Given the description of an element on the screen output the (x, y) to click on. 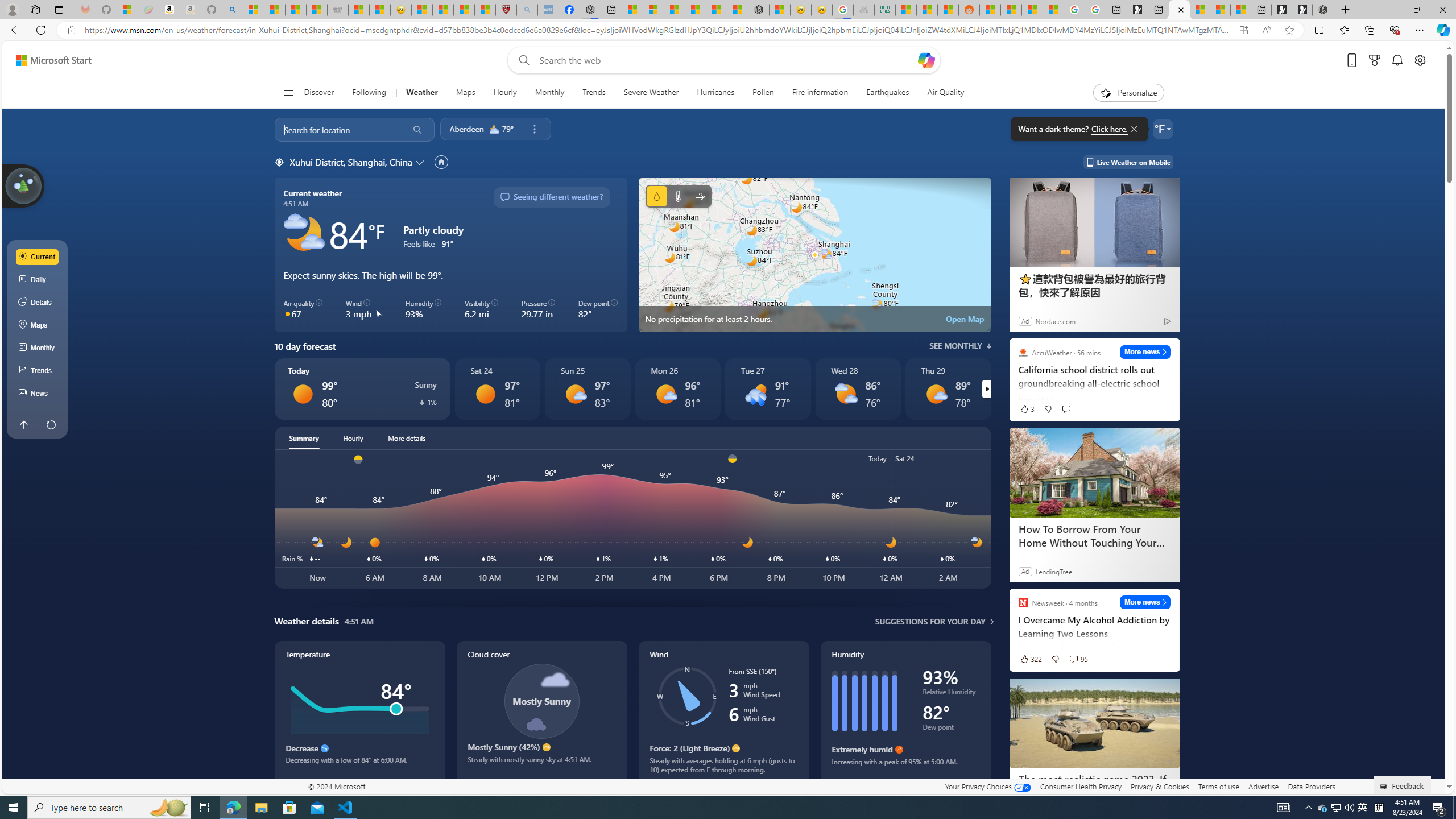
Weather (422, 92)
Enter your search term (726, 59)
Fire information (820, 92)
Data Providers (1311, 786)
Severe Weather (651, 92)
Join us in planting real trees to help our planet! (23, 185)
Precipitation (422, 401)
Ad (1024, 570)
Microsoft Start (1219, 9)
Recipes - MSN (421, 9)
static map image of vector map (814, 254)
